Given the description of an element on the screen output the (x, y) to click on. 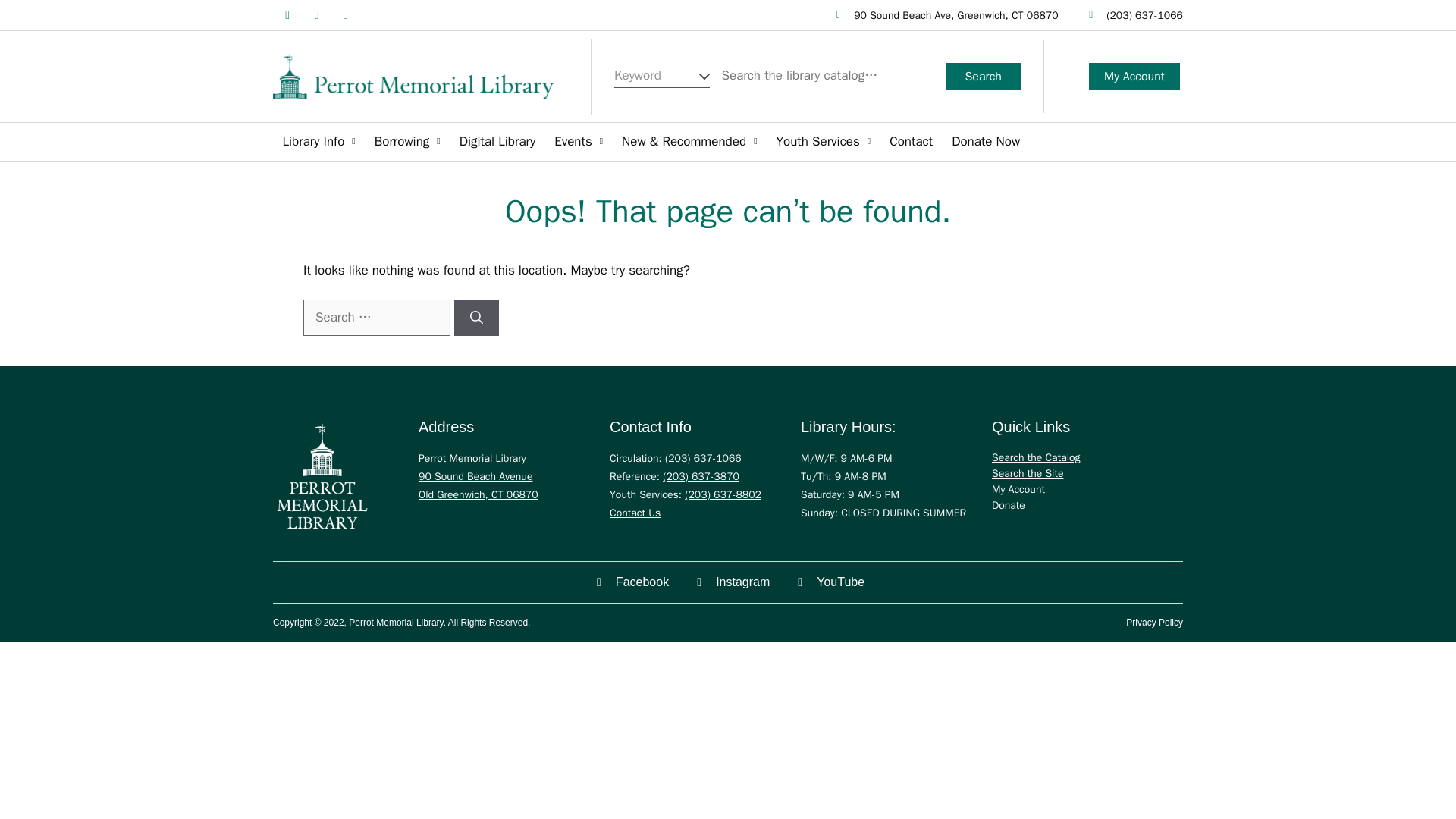
My Account (1134, 76)
Search (982, 76)
Library Info (318, 141)
Search (982, 76)
Search for: (375, 317)
Borrowing (407, 141)
Digital Library (497, 141)
Events (578, 141)
